Given the description of an element on the screen output the (x, y) to click on. 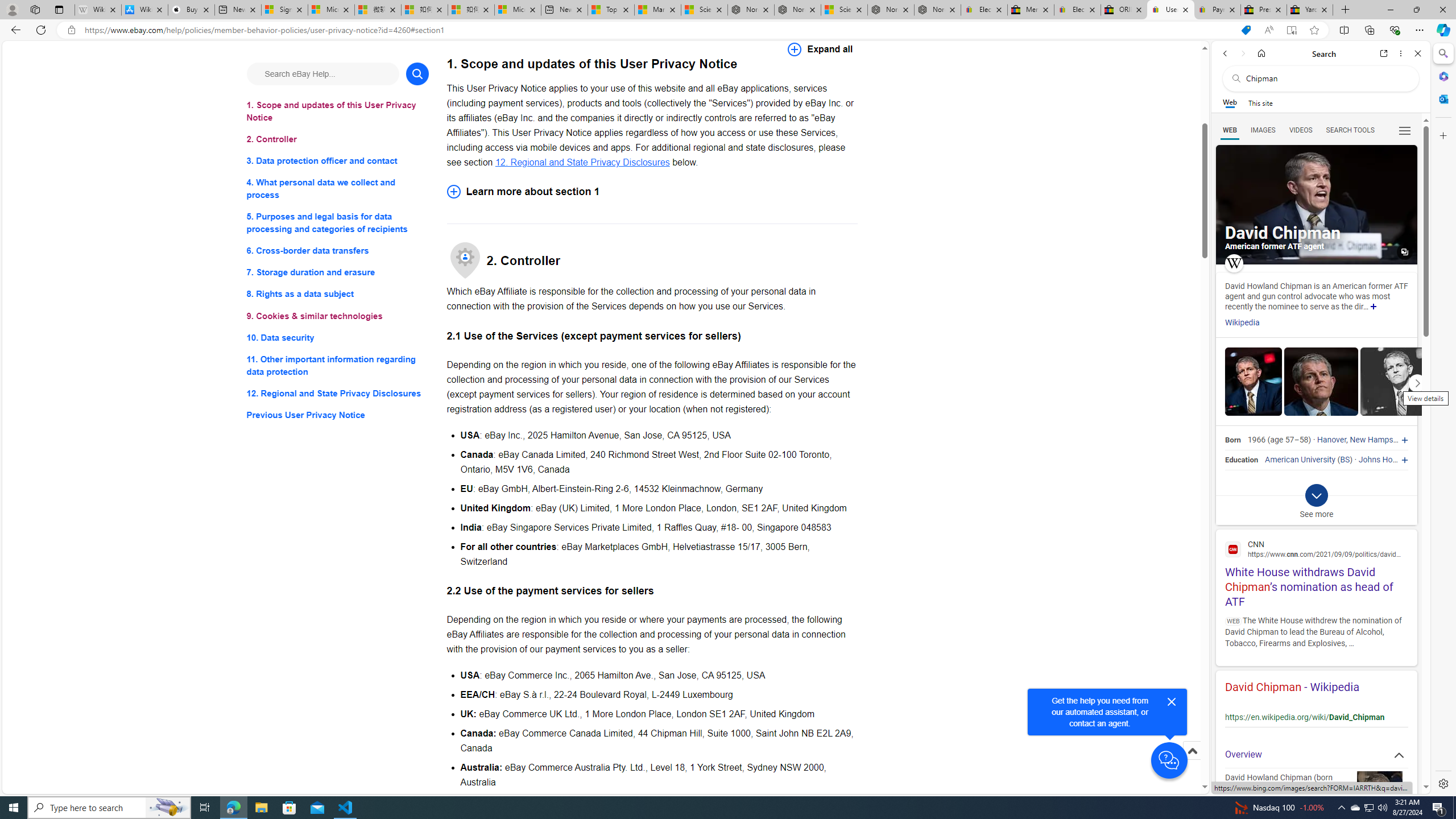
1. Scope and updates of this User Privacy Notice (337, 111)
3. Data protection officer and contact (337, 160)
11. Other important information regarding data protection (337, 365)
4. What personal data we collect and process (337, 189)
